Given the description of an element on the screen output the (x, y) to click on. 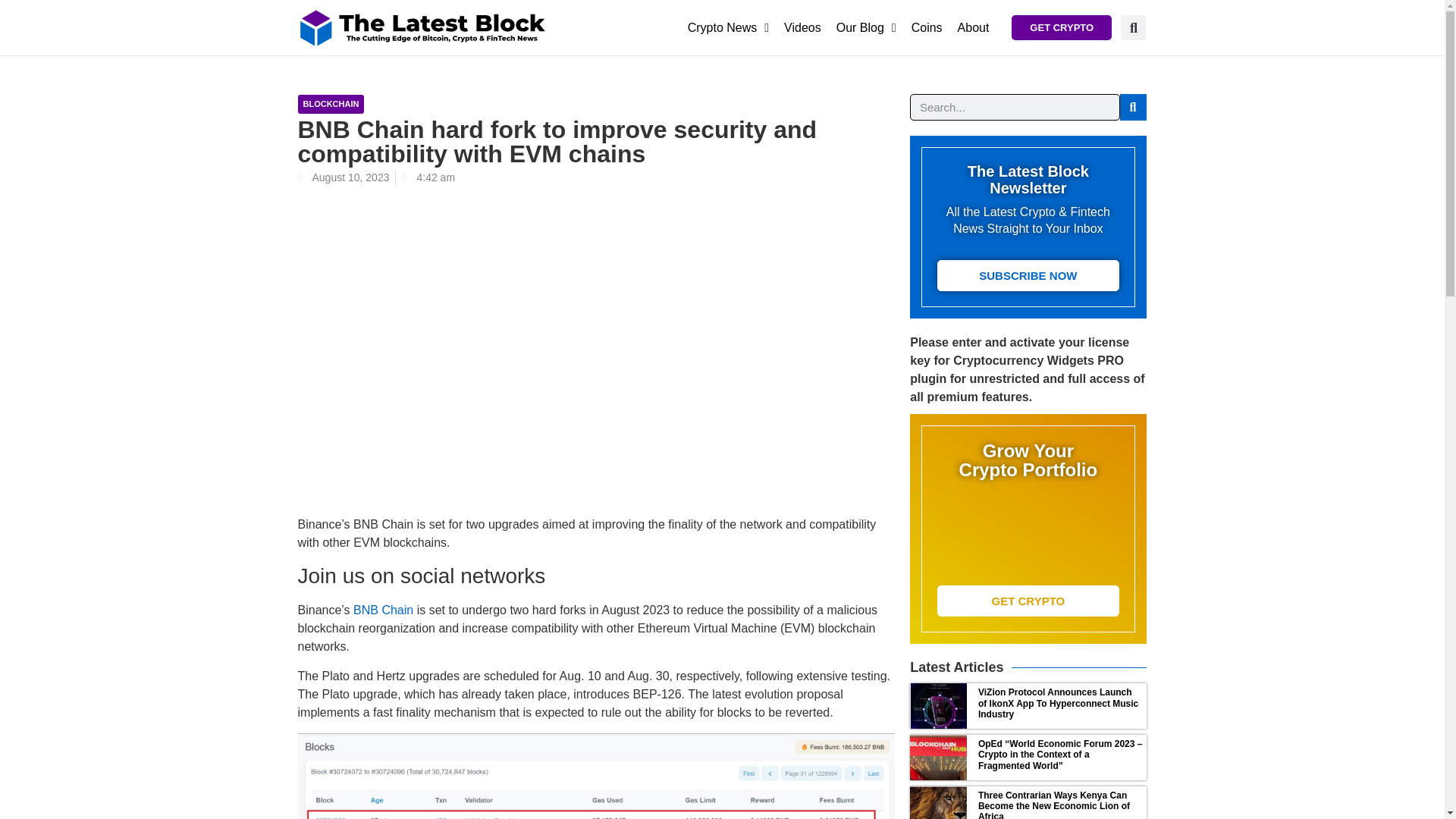
Videos (802, 28)
Coins (927, 28)
Our Blog (866, 28)
Crypto News (727, 28)
About (973, 28)
GET CRYPTO (1061, 27)
